Given the description of an element on the screen output the (x, y) to click on. 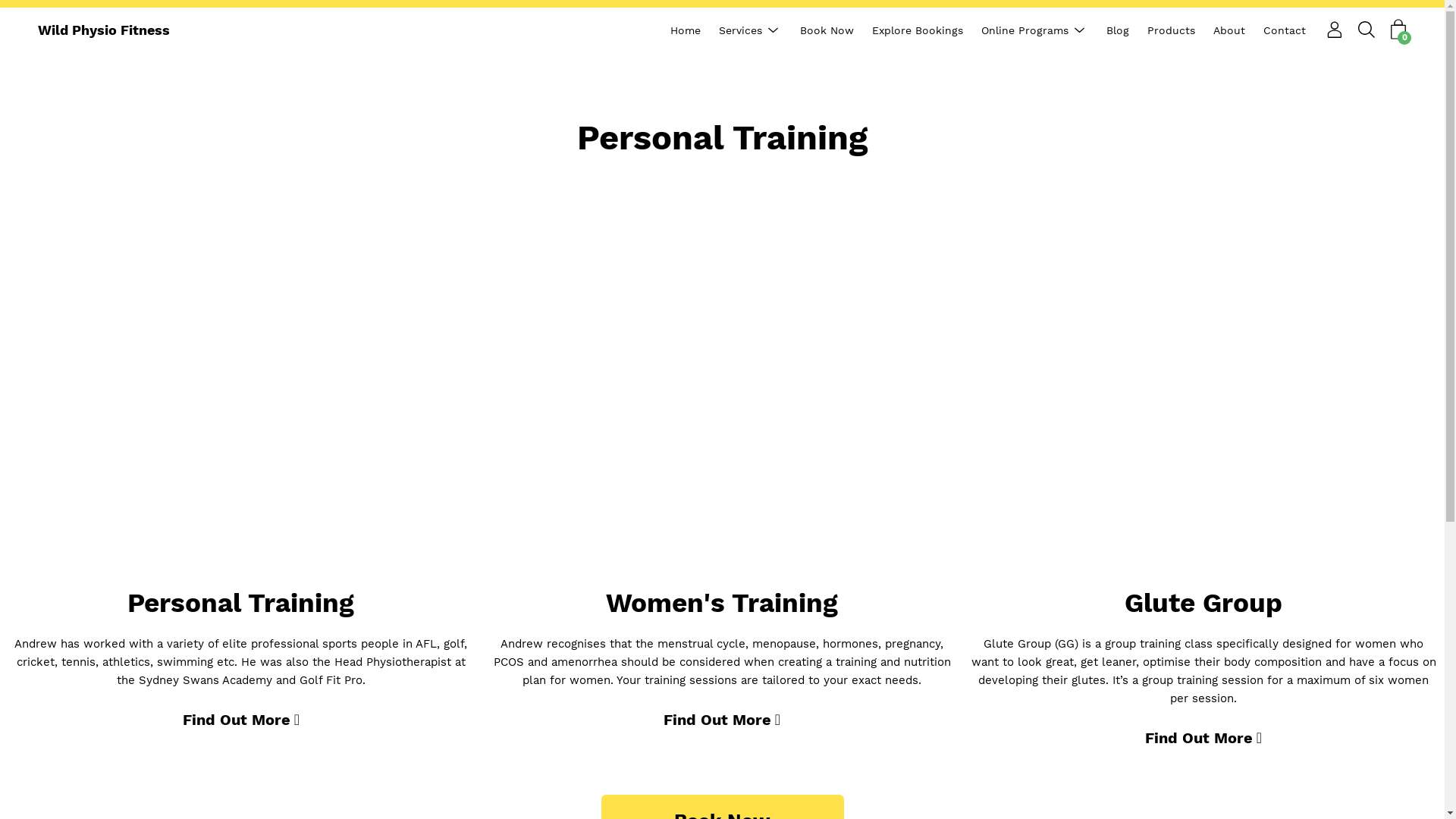
Show submenu Element type: text (773, 29)
Contact Element type: text (1284, 29)
Wild Physio Fitness Element type: text (103, 29)
Open search bar Element type: text (1366, 29)
Explore Bookings Element type: text (917, 29)
Book Now Element type: text (826, 29)
Products Element type: text (1171, 29)
Show submenu Element type: text (1079, 29)
Online Programs Element type: text (1024, 29)
Home Element type: text (685, 29)
Services Element type: text (740, 29)
Blog Element type: text (1117, 29)
0 Element type: text (1398, 29)
About Element type: text (1229, 29)
